Given the description of an element on the screen output the (x, y) to click on. 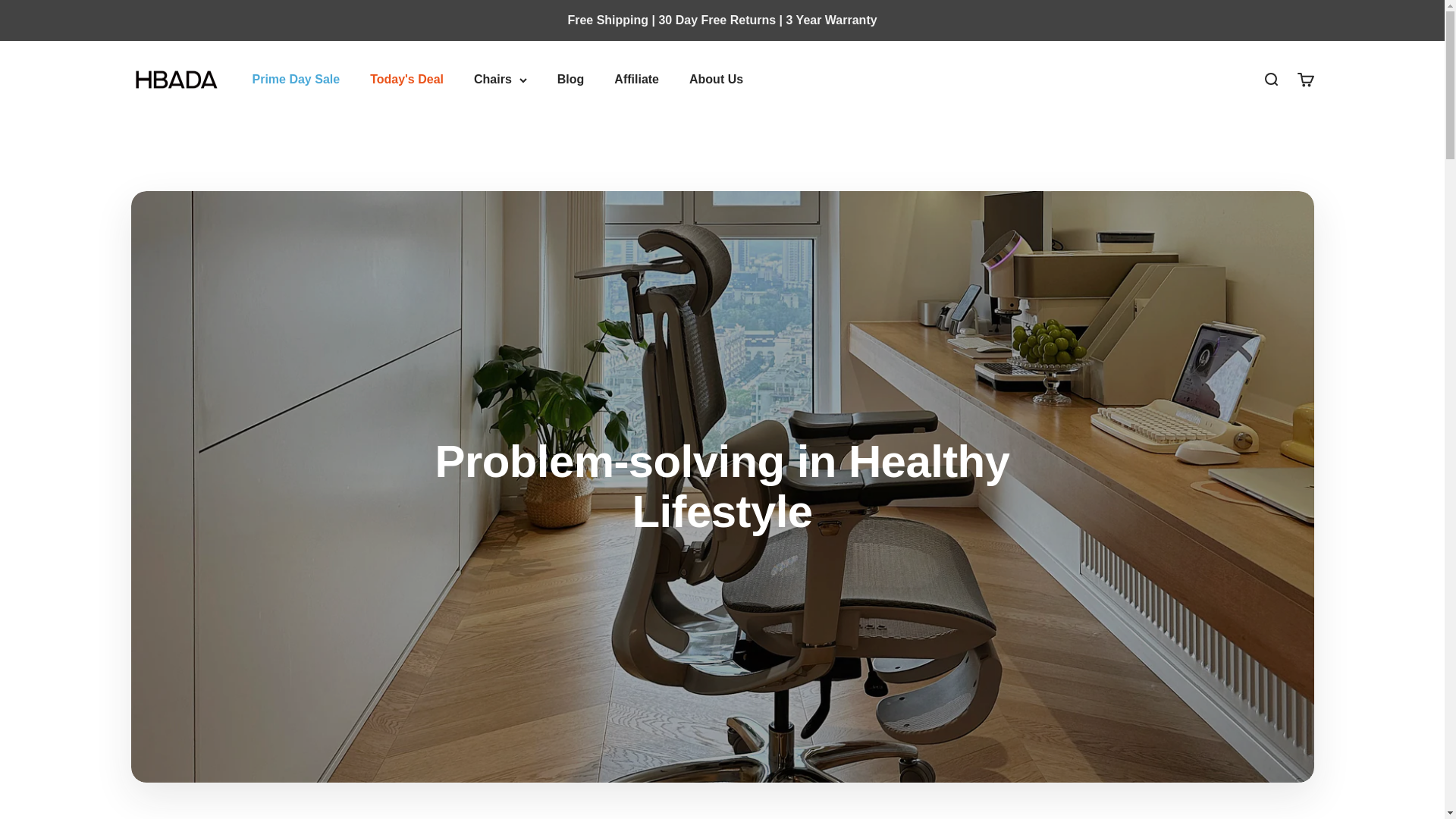
Today's Deal (406, 78)
Blog (571, 78)
Affiliate (636, 78)
Hbada (176, 79)
About Us (715, 78)
Prime Day Sale (295, 78)
